Given the description of an element on the screen output the (x, y) to click on. 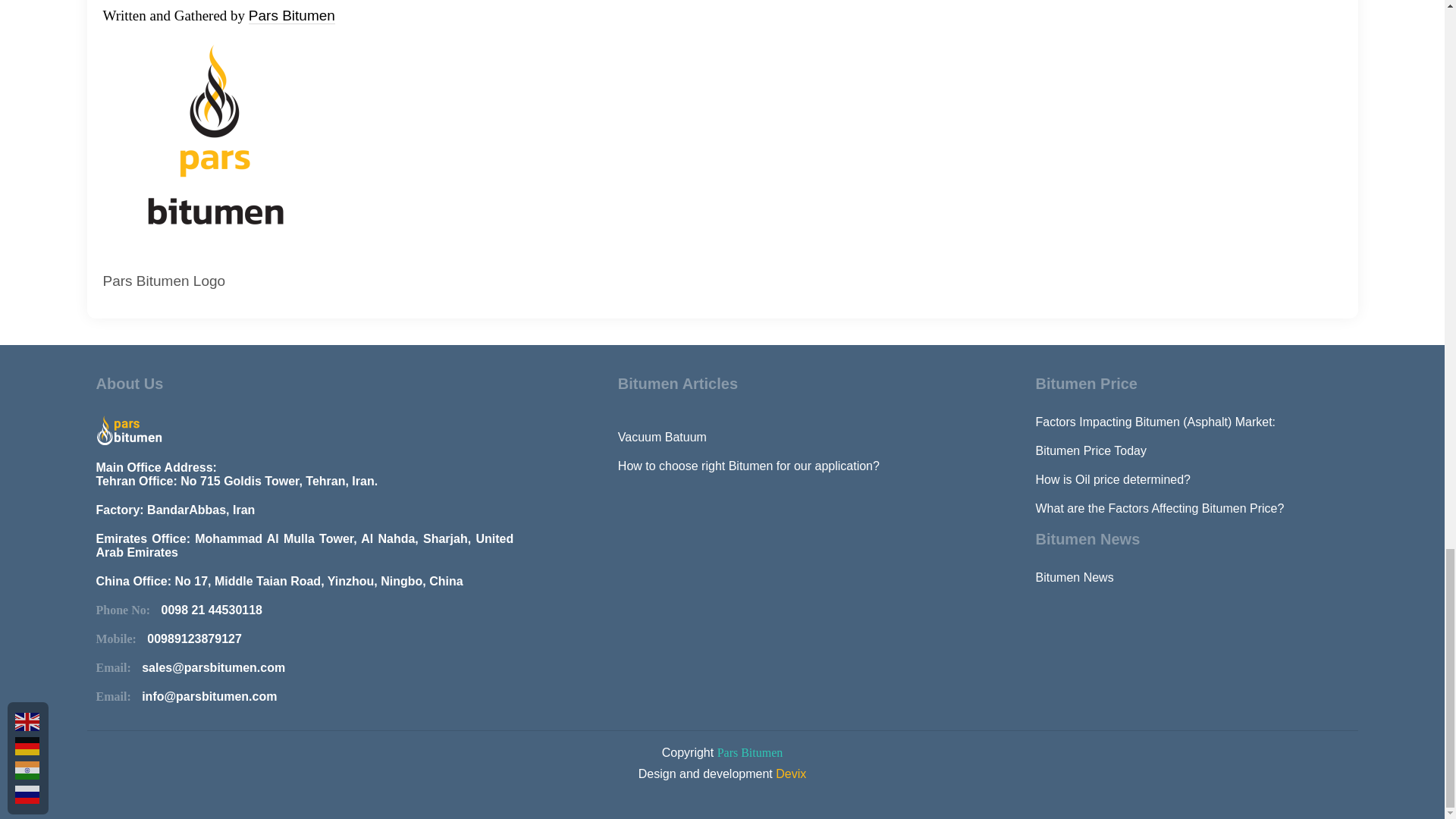
Mobile: (121, 638)
0098 21 44530118 (211, 609)
Pars Bitumen (291, 15)
